Given the description of an element on the screen output the (x, y) to click on. 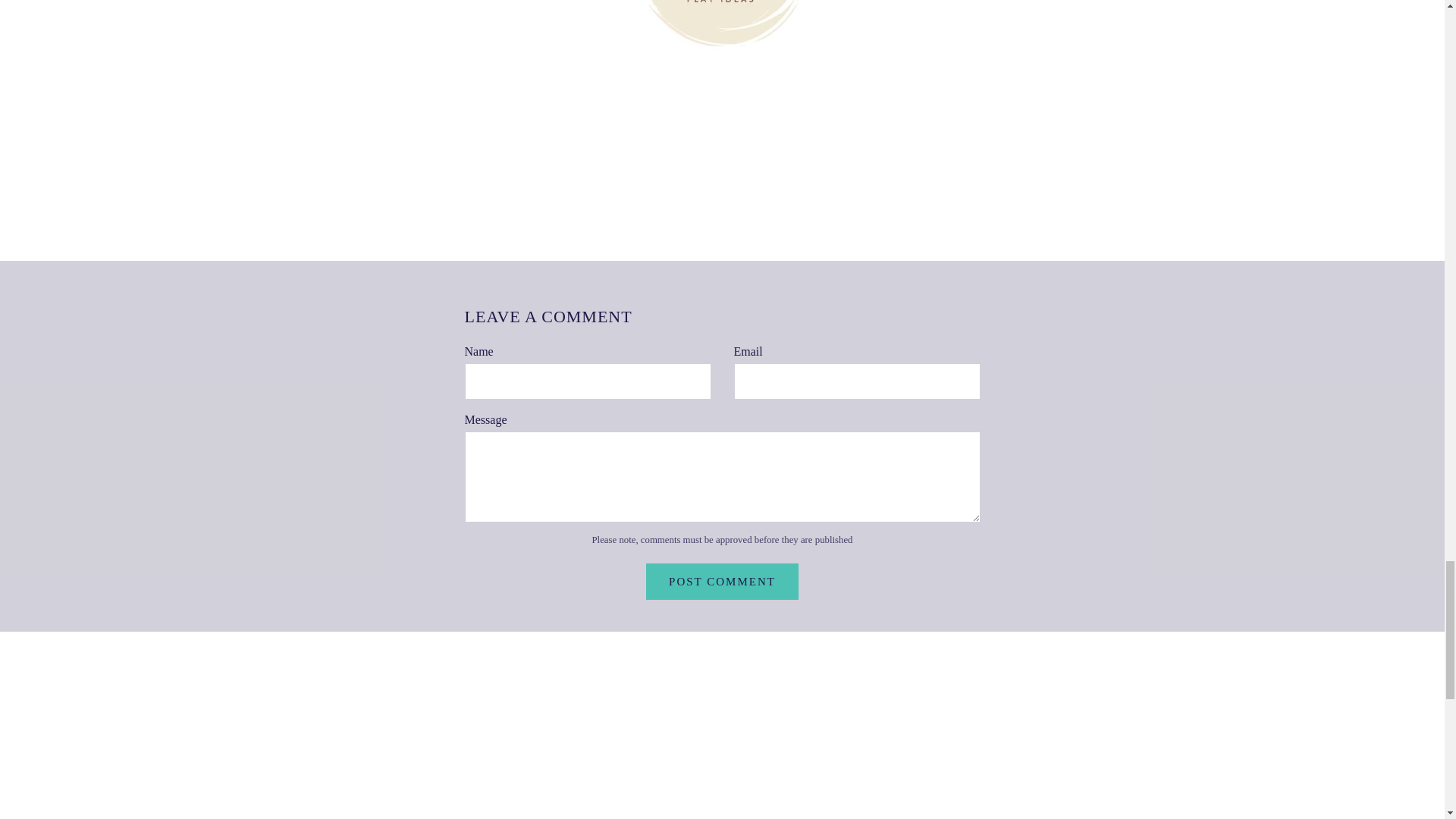
Post comment (721, 581)
Post comment (721, 581)
